Given the description of an element on the screen output the (x, y) to click on. 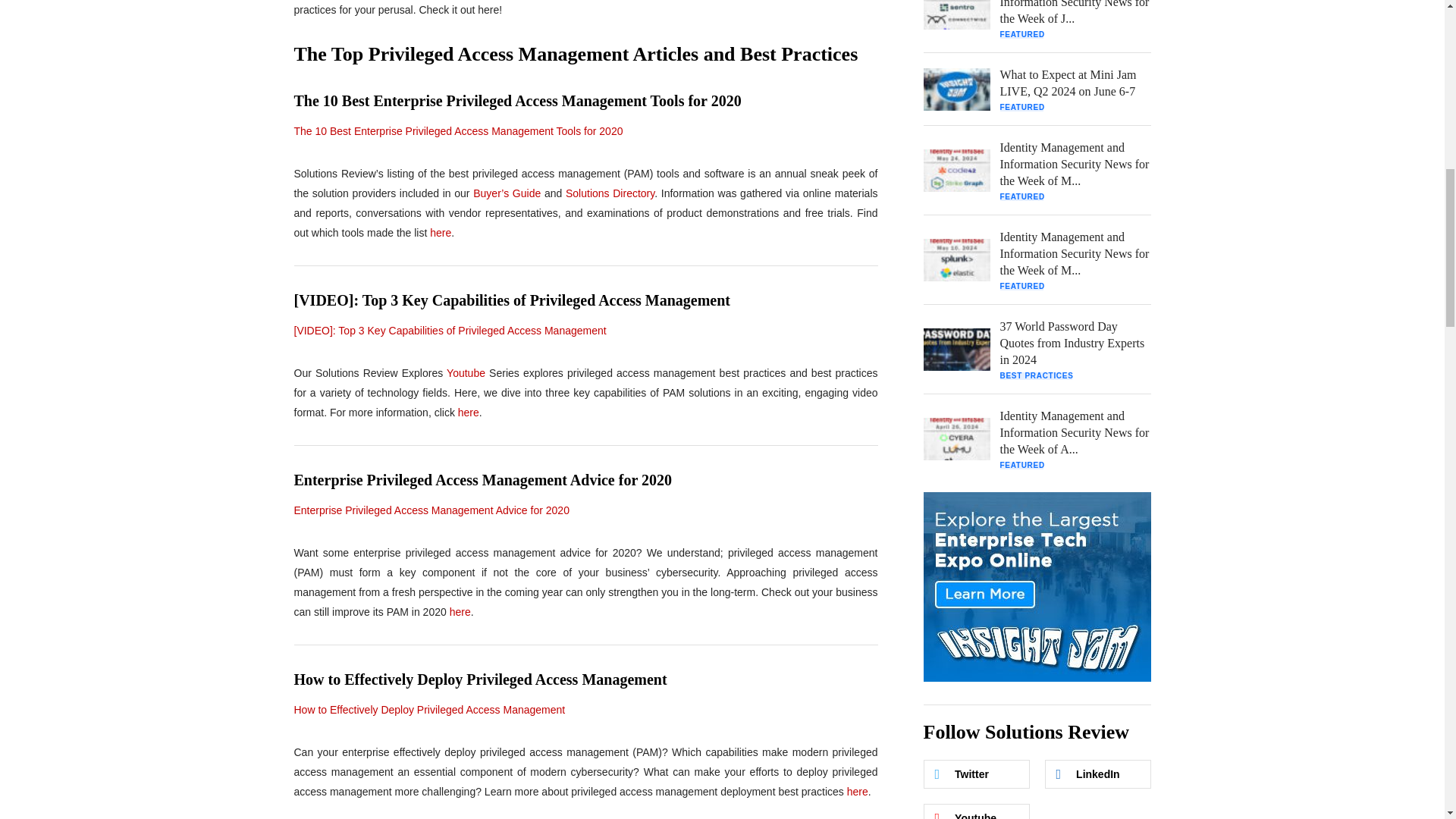
here (440, 232)
here (459, 612)
Enterprise Privileged Access Management Advice for 2020 (431, 510)
Solutions Directory (609, 193)
here (468, 412)
Insight Jam Ad (1037, 586)
Youtube (465, 372)
